Given the description of an element on the screen output the (x, y) to click on. 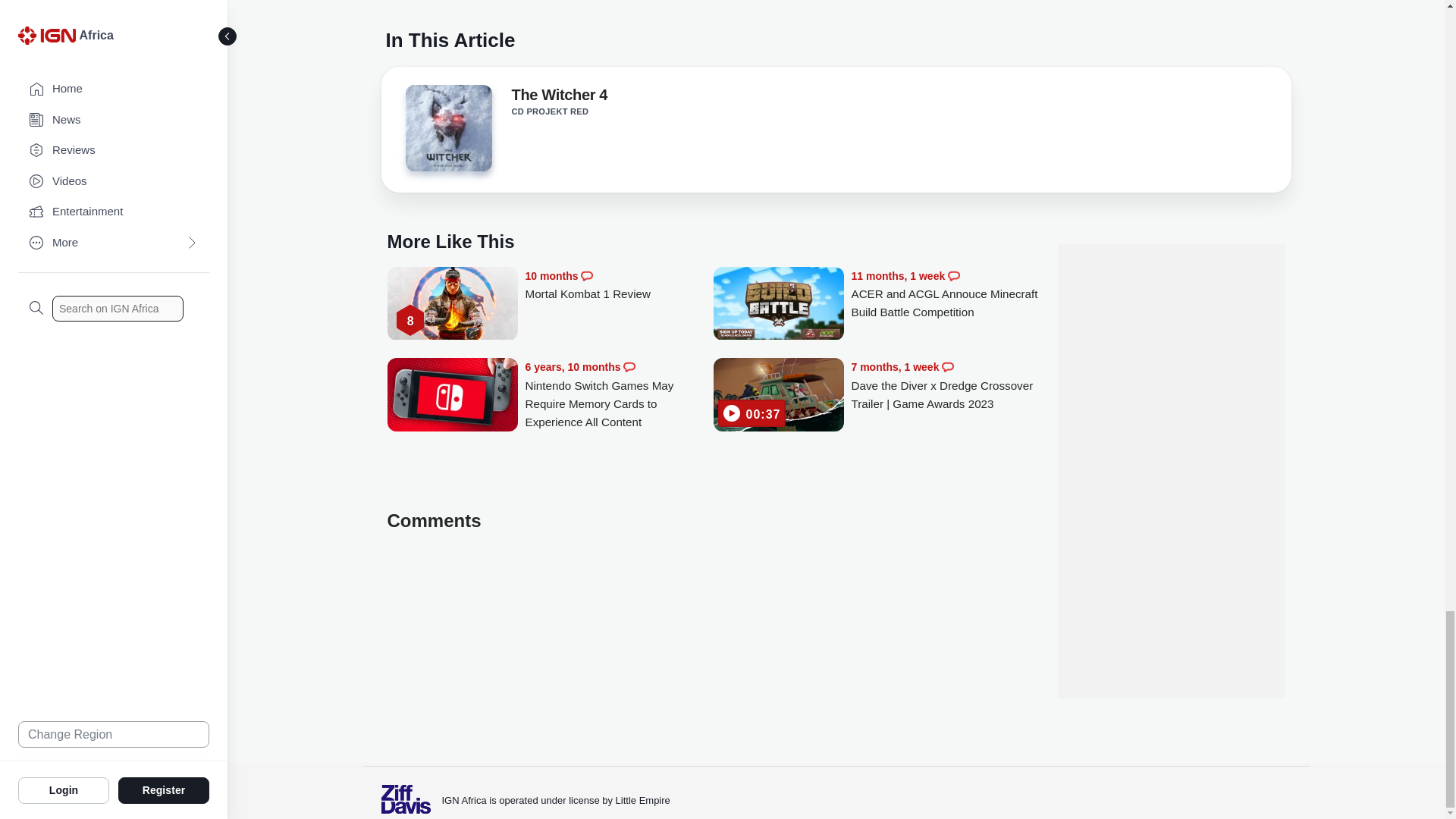
ACER and ACGL Annouce Minecraft Build Battle Competition (778, 304)
The Witcher 4 (559, 97)
The Witcher 4 (448, 128)
Mortal Kombat 1 Review (618, 284)
Comments (947, 367)
ACER and ACGL Annouce Minecraft Build Battle Competition (944, 294)
Comments (586, 275)
The Witcher 4 (448, 132)
Comments (953, 275)
Comments (628, 367)
Mortal Kombat 1 Review (451, 304)
